Given the description of an element on the screen output the (x, y) to click on. 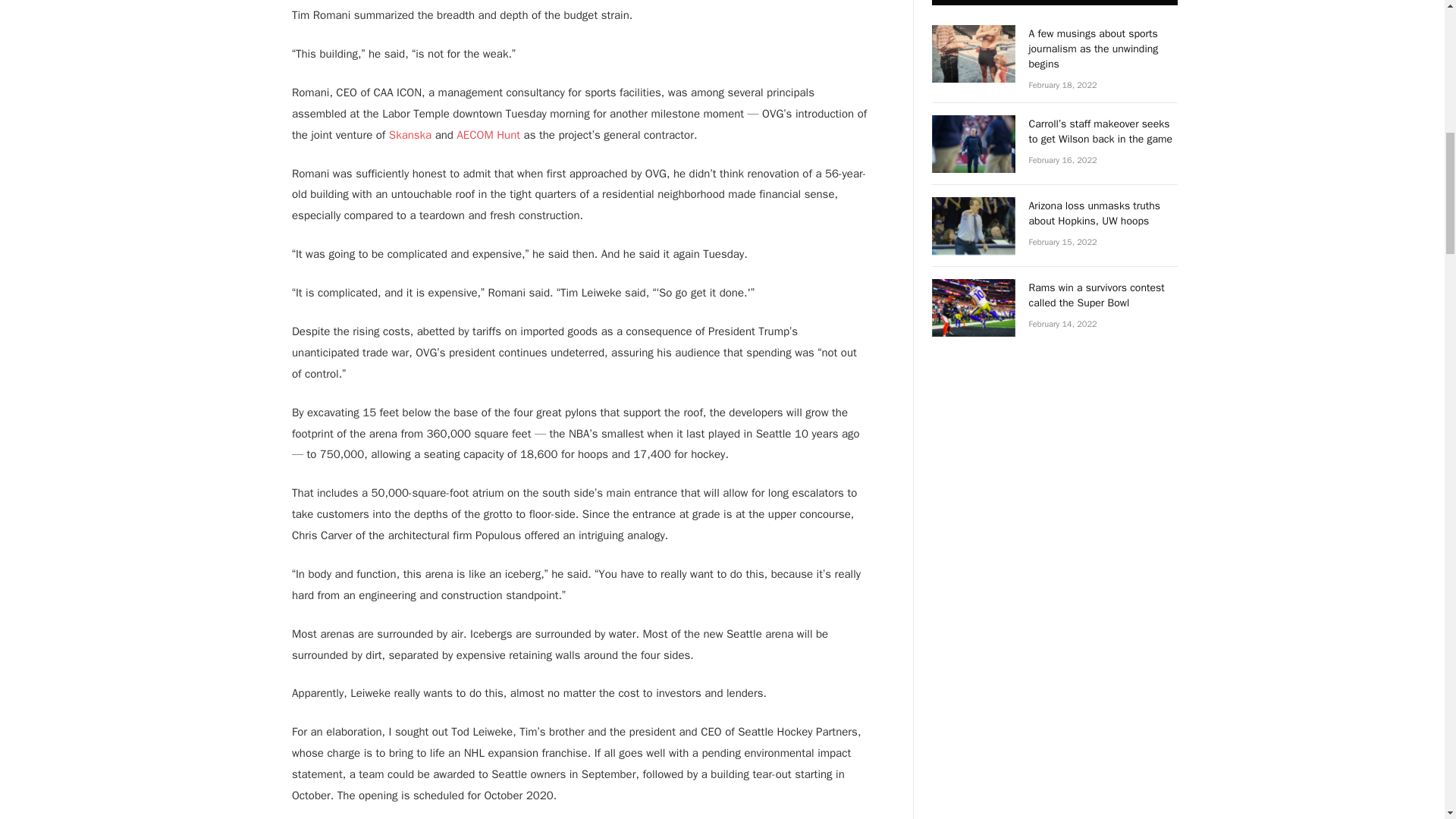
AECOM Hunt (488, 134)
Skanska (409, 134)
